Given the description of an element on the screen output the (x, y) to click on. 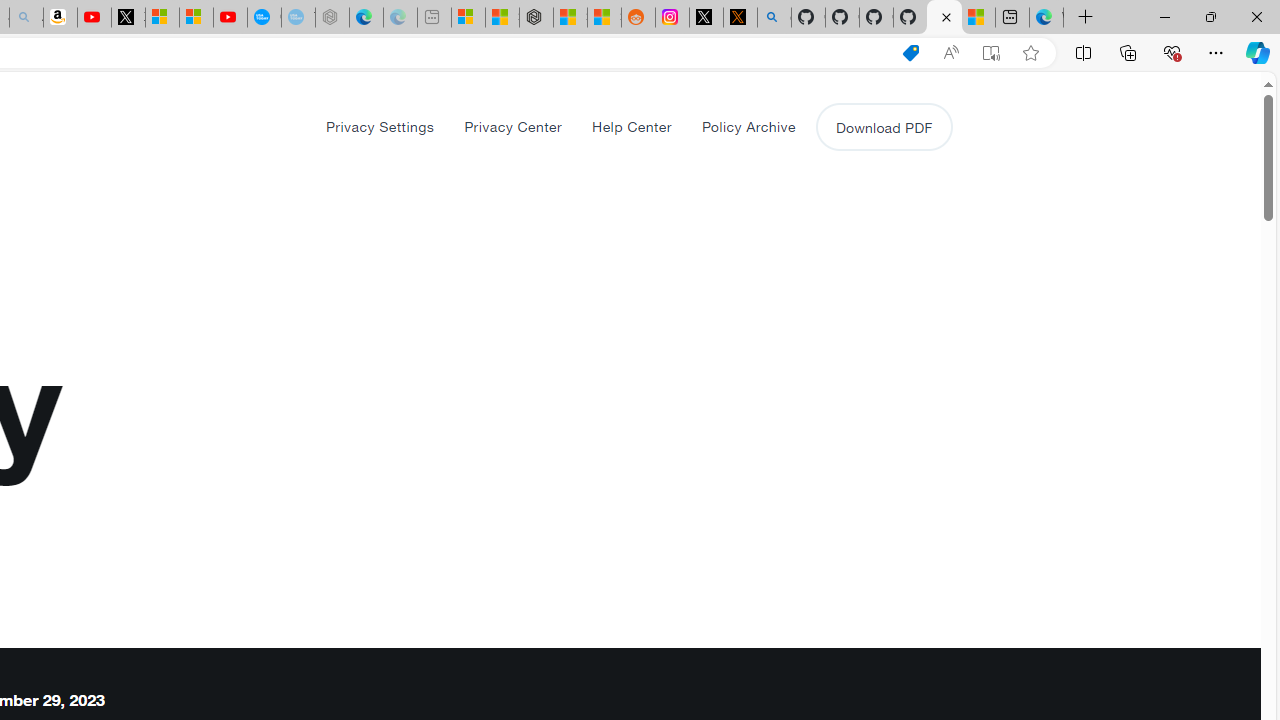
Help Center (631, 126)
Enter Immersive Reader (F9) (991, 53)
Policy Archive (747, 126)
github - Search (774, 17)
Shanghai, China Weather trends | Microsoft Weather (603, 17)
Help Center (631, 126)
New tab - Sleeping (434, 17)
Shopping in Microsoft Edge (910, 53)
